Given the description of an element on the screen output the (x, y) to click on. 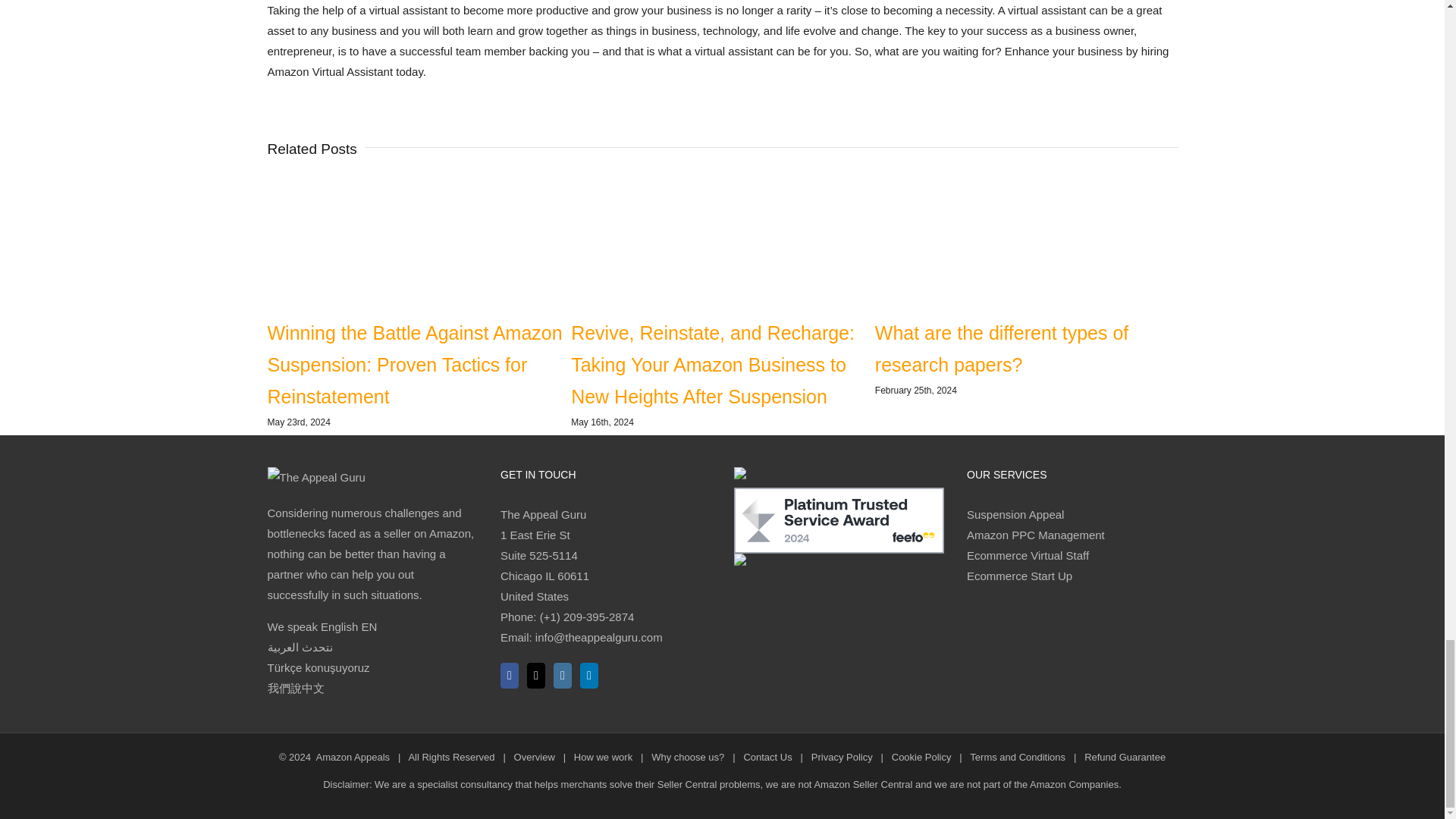
What are the different types of research papers? (1001, 348)
